Given the description of an element on the screen output the (x, y) to click on. 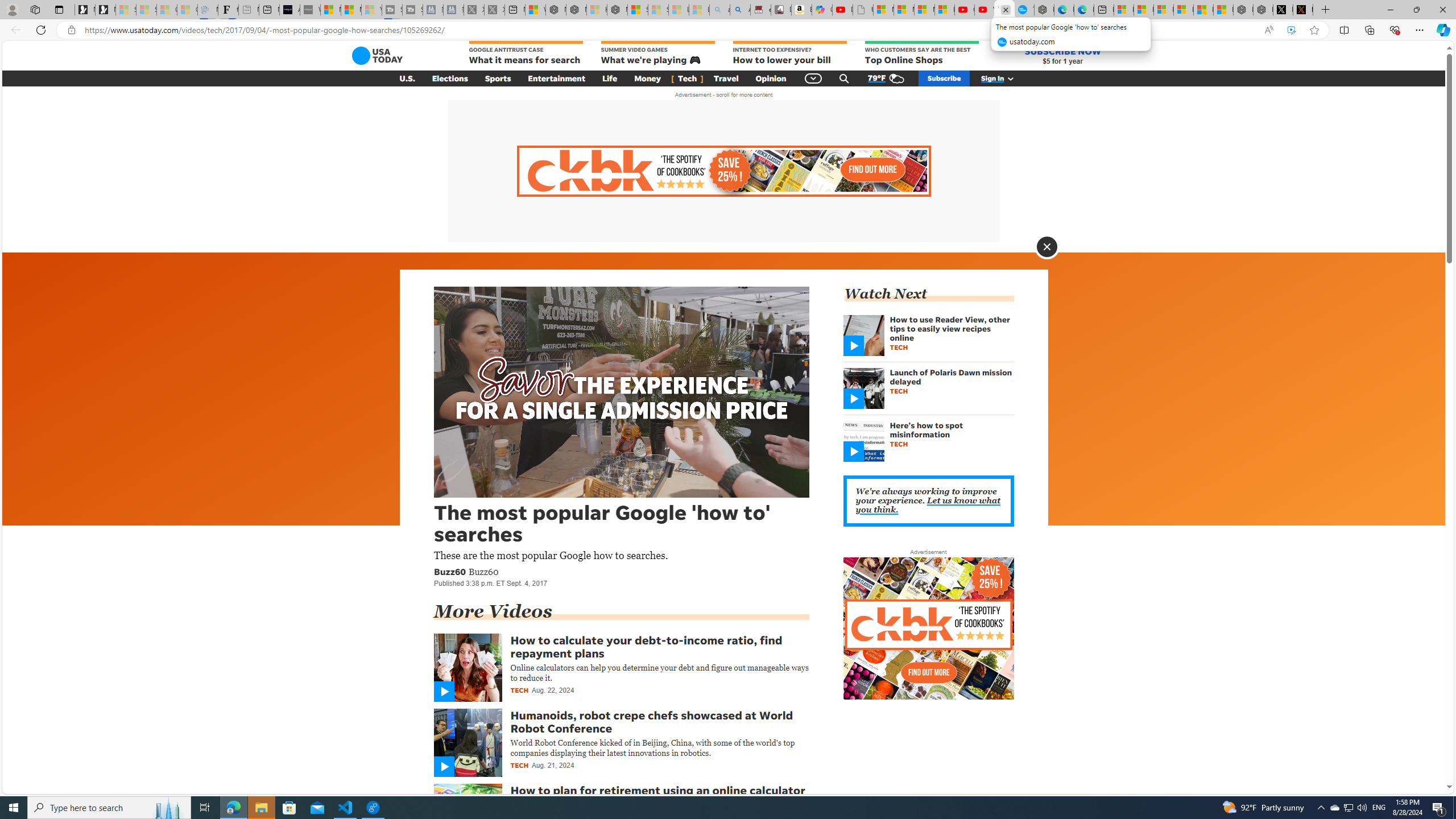
Nordace - Nordace Siena Is Not An Ordinary Backpack (616, 9)
Nordace (@NordaceOfficial) / X (1282, 9)
Enhance video (1291, 29)
Life (609, 78)
INTERNET TOO EXPENSIVE? How to lower your bill (789, 53)
Class: gnt_rc_svg (853, 451)
Gloom - YouTube (964, 9)
Copilot (821, 9)
WHO CUSTOMERS SAY ARE THE BEST Top Online Shops (921, 53)
